Given the description of an element on the screen output the (x, y) to click on. 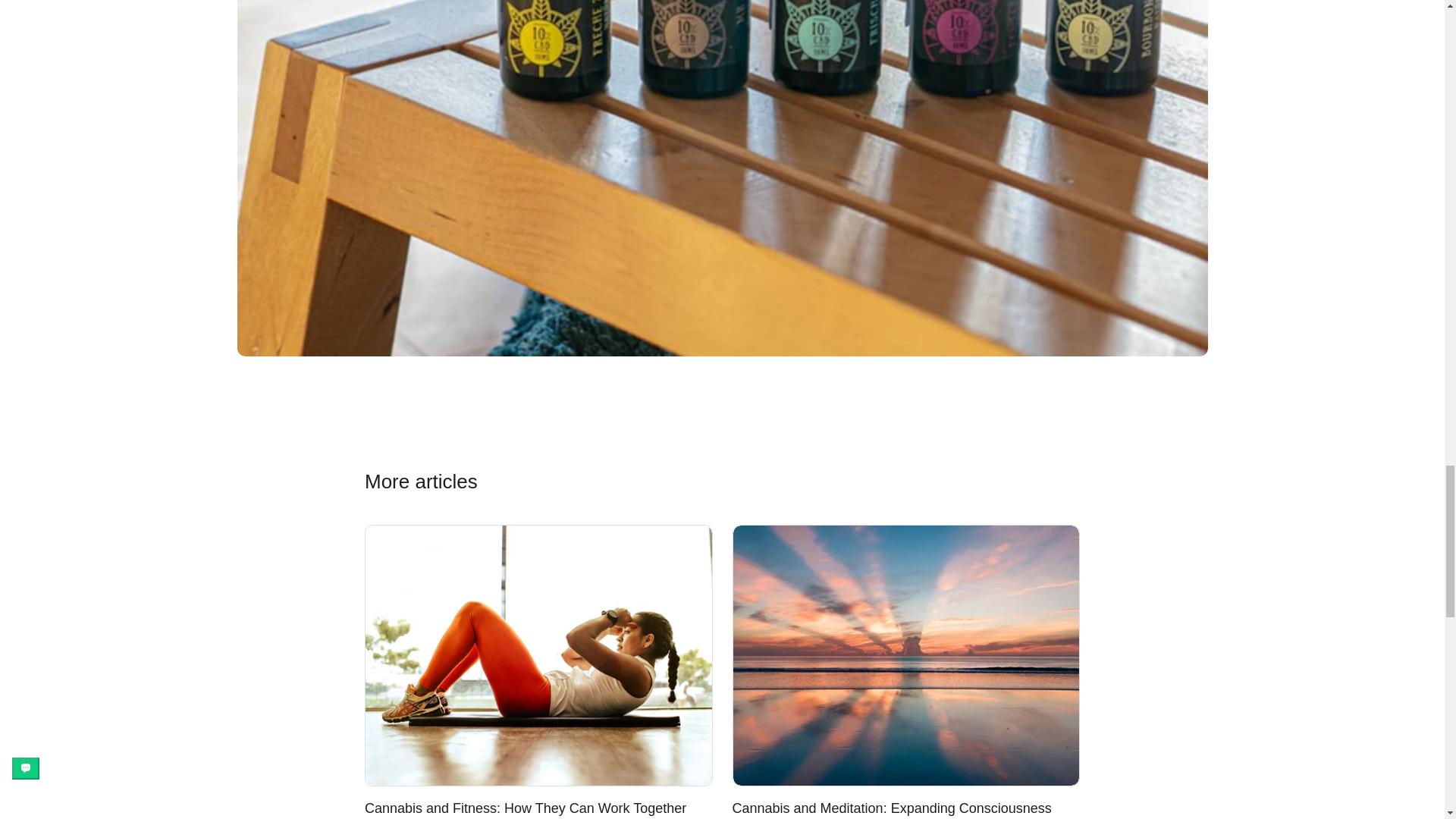
Cannabis and Fitness: How They Can Work Together (525, 808)
Cannabis and Fitness: How They Can Work Together (525, 808)
Cannabis and Meditation: Expanding Consciousness (891, 808)
Cannabis and Meditation: Expanding Consciousness (906, 654)
Cannabis and Fitness: How They Can Work Together (539, 654)
Cannabis and Meditation: Expanding Consciousness (891, 808)
